Given the description of an element on the screen output the (x, y) to click on. 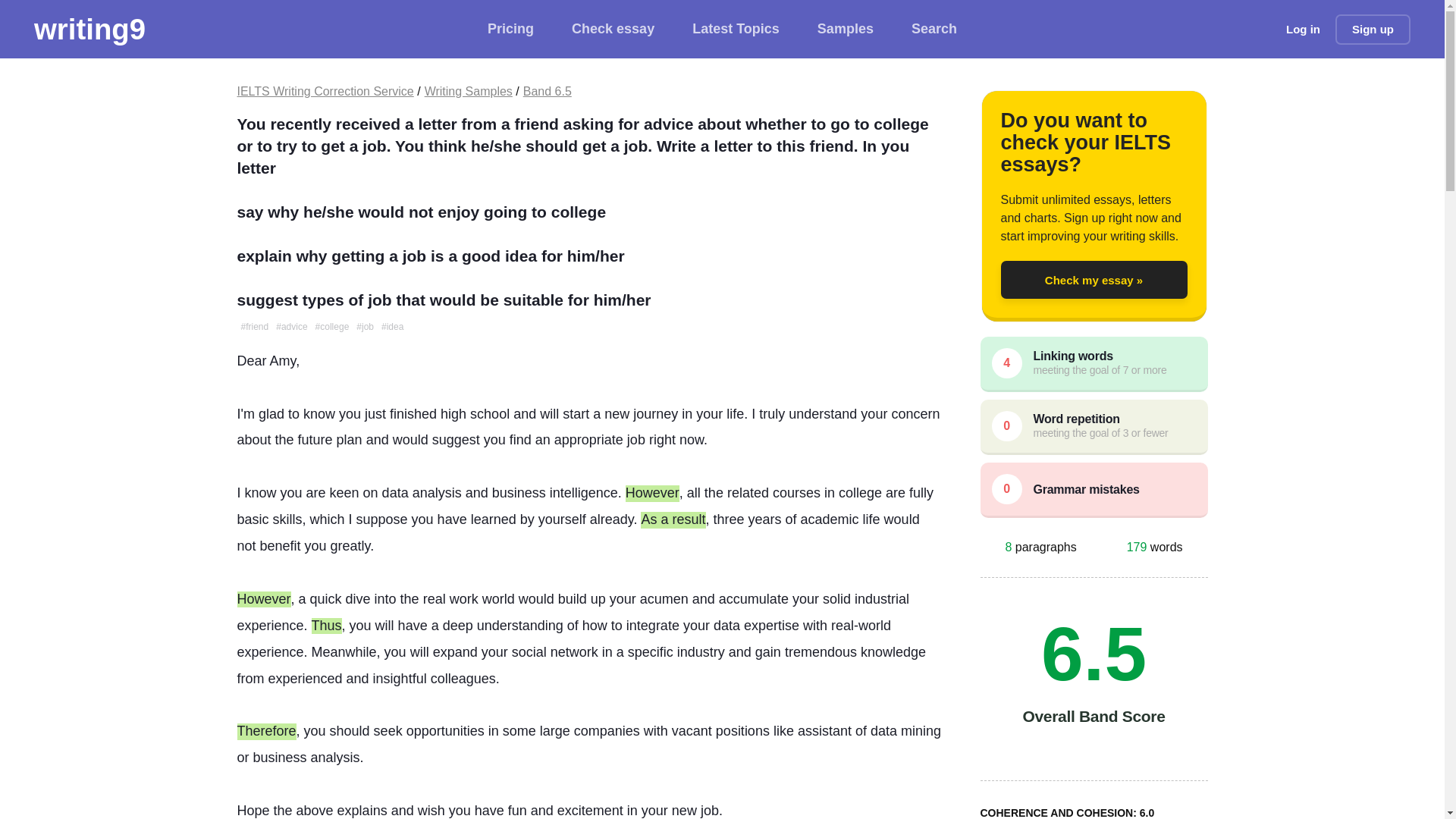
Band 6.5 (547, 91)
IELTS Writing Correction Service (324, 91)
Log in (1303, 28)
Latest Topics (734, 29)
Check essay (612, 29)
Samples (844, 29)
IELTS Essay Checker (89, 28)
writing9 (89, 28)
Log in (1303, 29)
Pricing (510, 29)
